Given the description of an element on the screen output the (x, y) to click on. 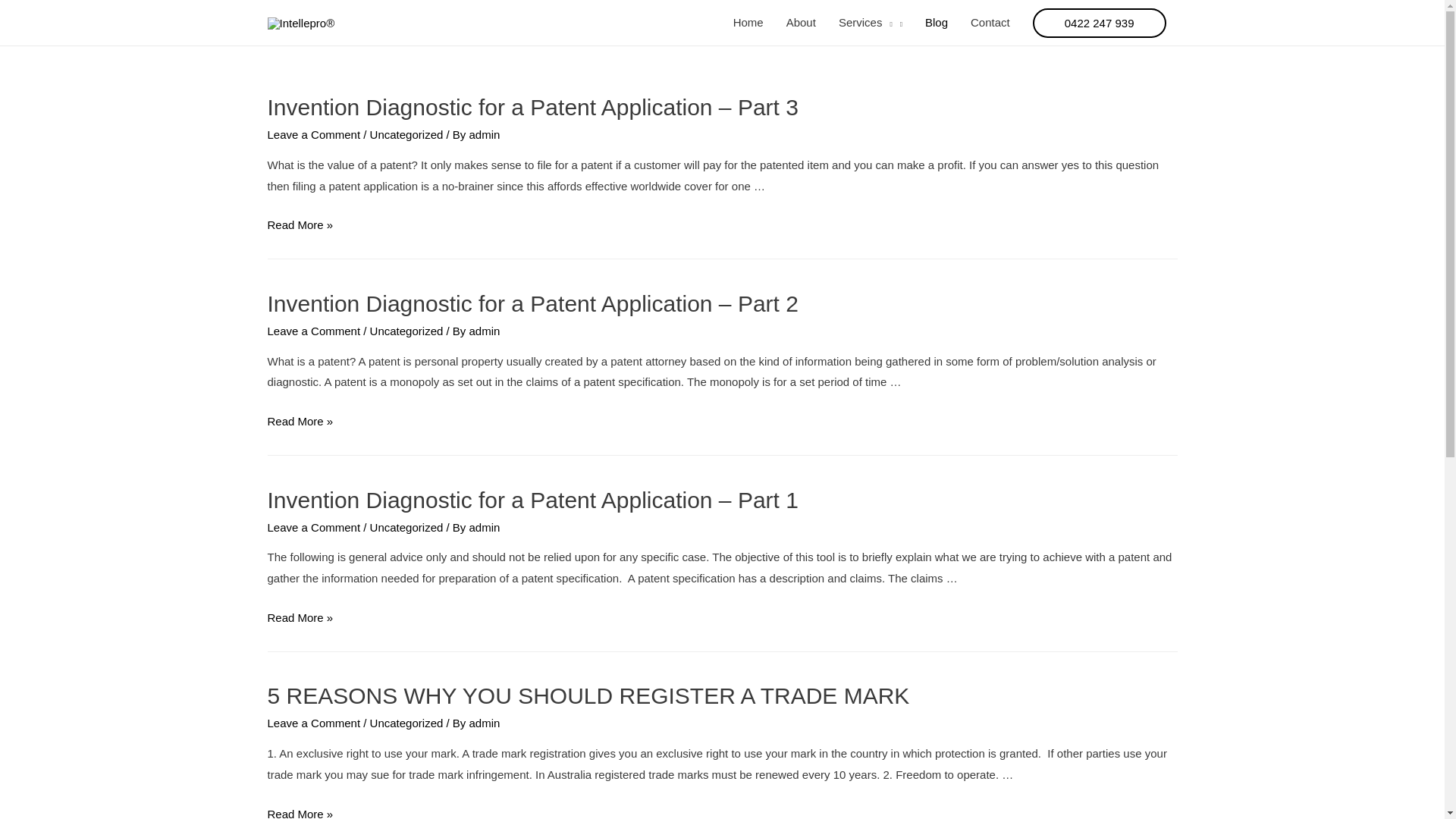
Leave a Comment Element type: text (313, 330)
Services Element type: text (870, 22)
0422 247 939 Element type: text (1099, 22)
Leave a Comment Element type: text (313, 526)
Uncategorized Element type: text (406, 330)
Uncategorized Element type: text (406, 134)
Leave a Comment Element type: text (313, 134)
admin Element type: text (484, 722)
Uncategorized Element type: text (406, 722)
Contact Element type: text (990, 22)
Leave a Comment Element type: text (313, 722)
admin Element type: text (484, 330)
admin Element type: text (484, 526)
About Element type: text (801, 22)
Blog Element type: text (936, 22)
Home Element type: text (748, 22)
5 REASONS WHY YOU SHOULD REGISTER A TRADE MARK Element type: text (587, 695)
Uncategorized Element type: text (406, 526)
admin Element type: text (484, 134)
